Given the description of an element on the screen output the (x, y) to click on. 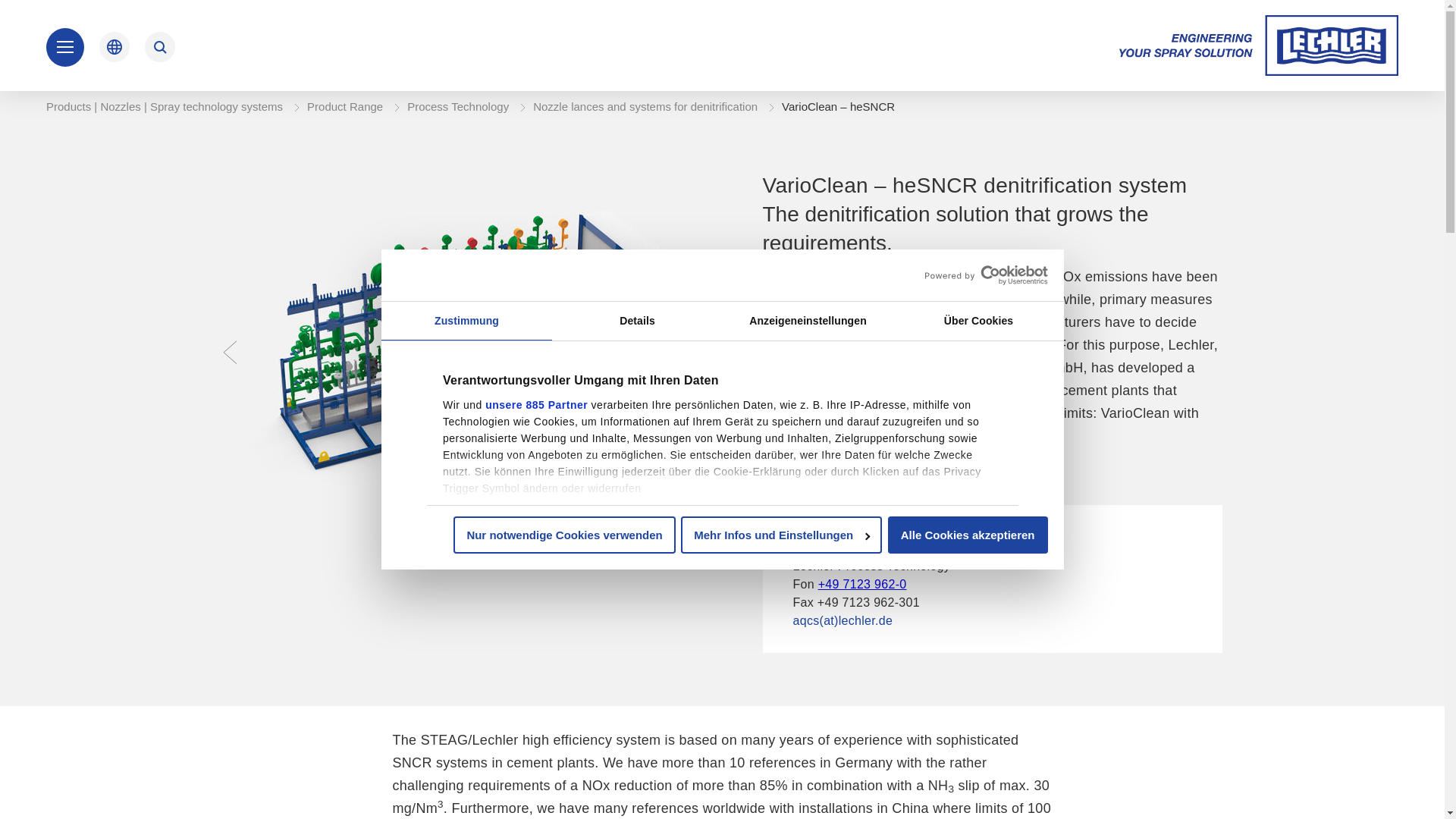
unsere 885 Partner (536, 404)
Zustimmung (465, 321)
Anzeigeneinstellungen (807, 321)
Details (636, 321)
Abschnitt Einzelheiten (518, 610)
